Given the description of an element on the screen output the (x, y) to click on. 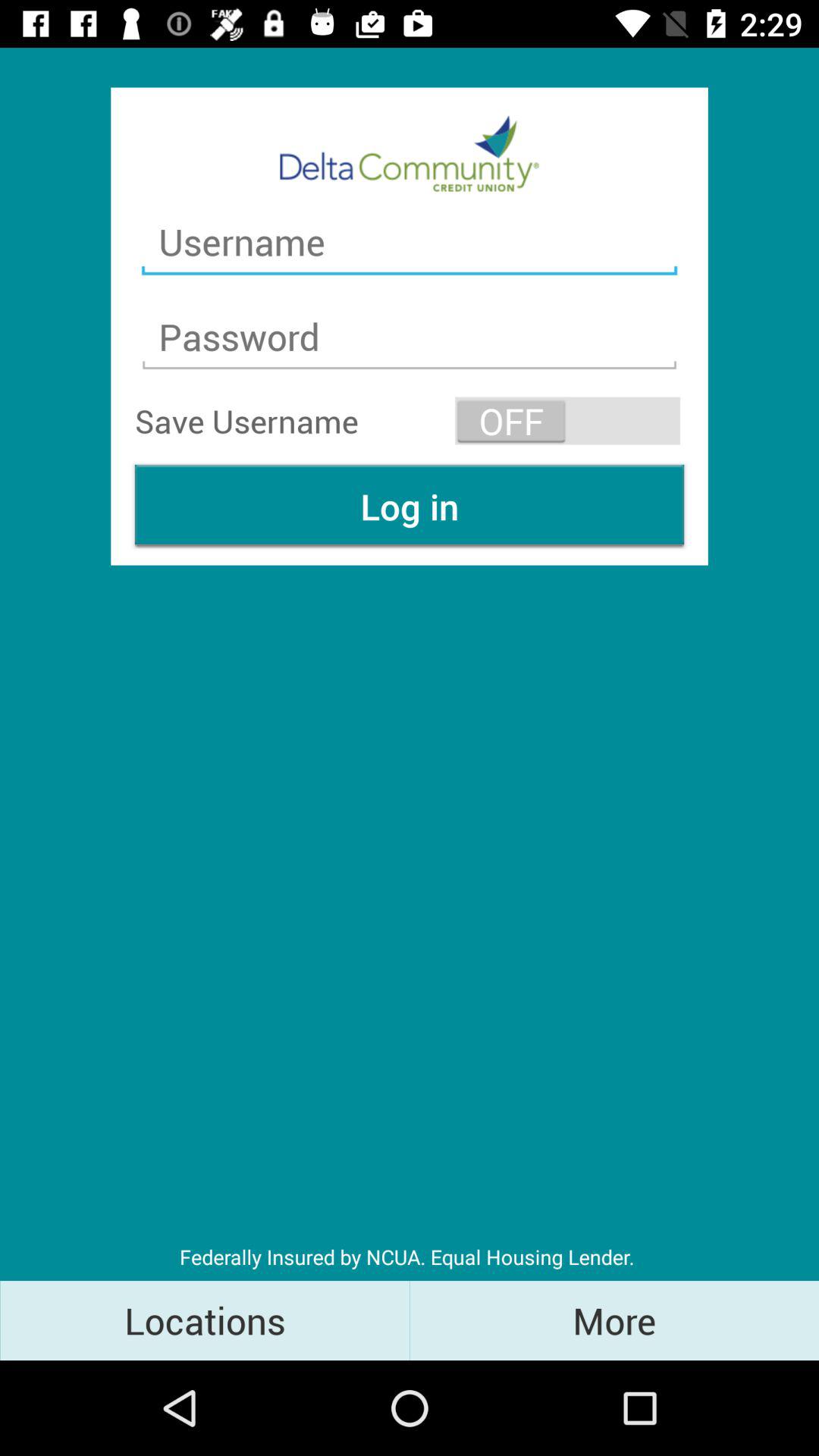
turn off item next to locations (614, 1320)
